Given the description of an element on the screen output the (x, y) to click on. 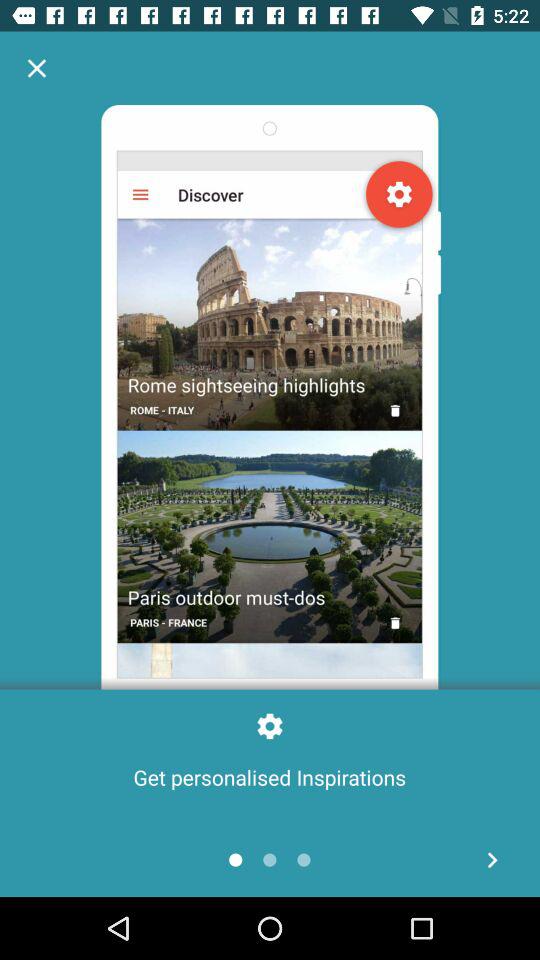
next page (492, 860)
